Given the description of an element on the screen output the (x, y) to click on. 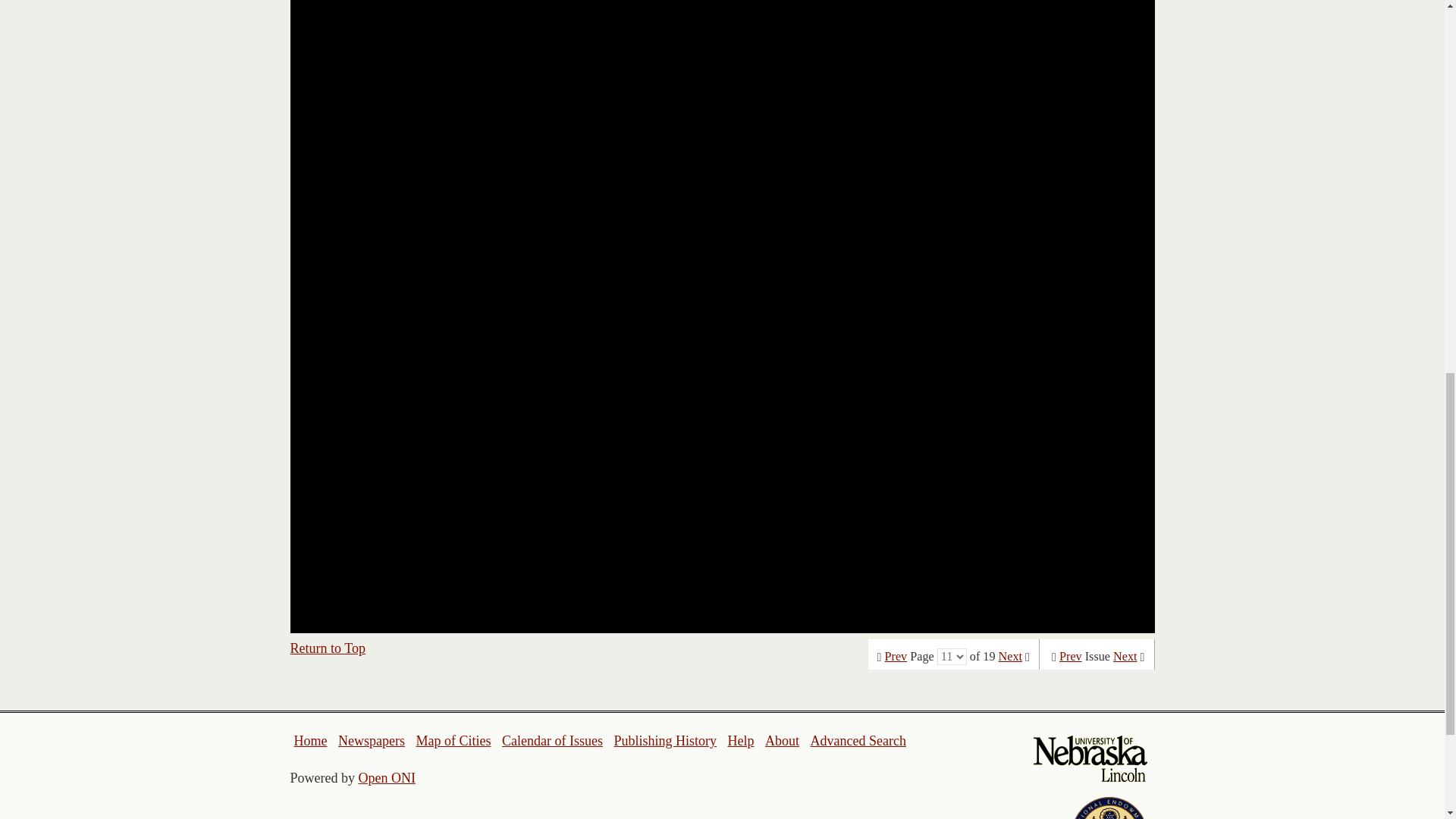
Calendar of Issues (552, 740)
Prev (896, 656)
Newspapers (370, 740)
Advanced Search (857, 740)
Help (740, 740)
Prev (1070, 656)
Map of Cities (452, 740)
Home (310, 740)
Publishing History (664, 740)
Return to Top (327, 648)
